Given the description of an element on the screen output the (x, y) to click on. 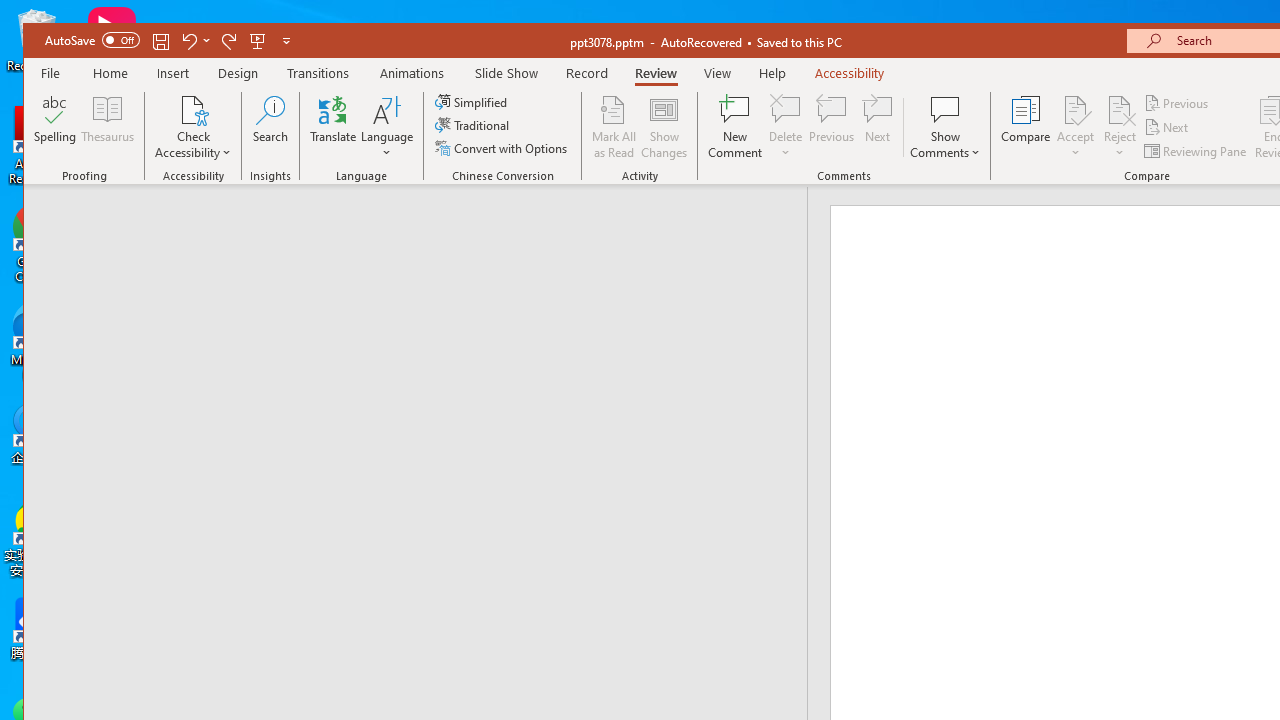
Show Changes (663, 127)
Accept (1075, 127)
Show Comments (945, 127)
Convert with Options... (502, 147)
Next (1167, 126)
Delete (785, 109)
Reviewing Pane (1196, 150)
Traditional (473, 124)
